Given the description of an element on the screen output the (x, y) to click on. 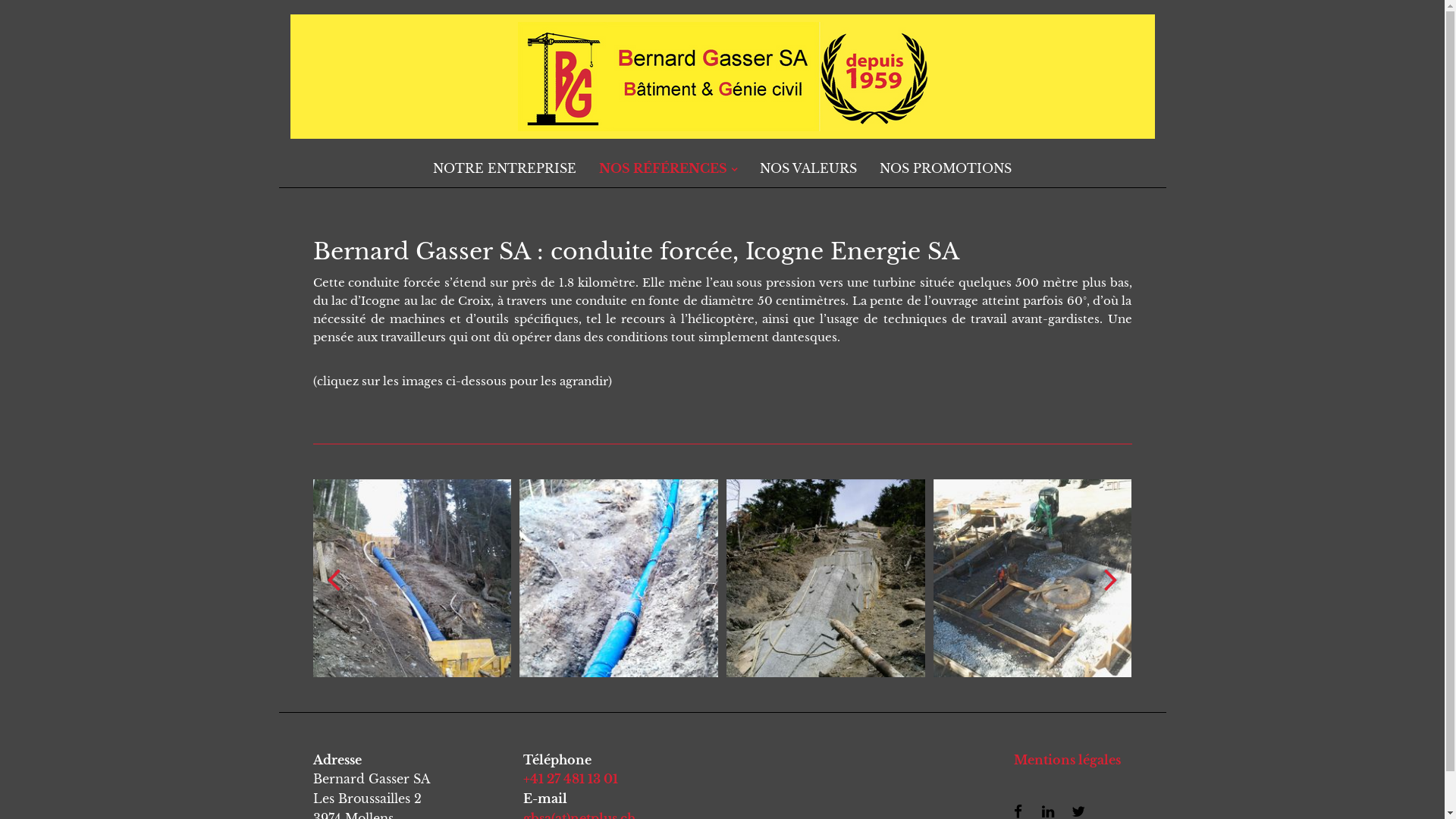
NOTRE ENTREPRISE Element type: text (504, 168)
NOS VALEURS Element type: text (807, 168)
NOS PROMOTIONS Element type: text (945, 168)
+41 27 481 13 01 Element type: text (570, 778)
